Given the description of an element on the screen output the (x, y) to click on. 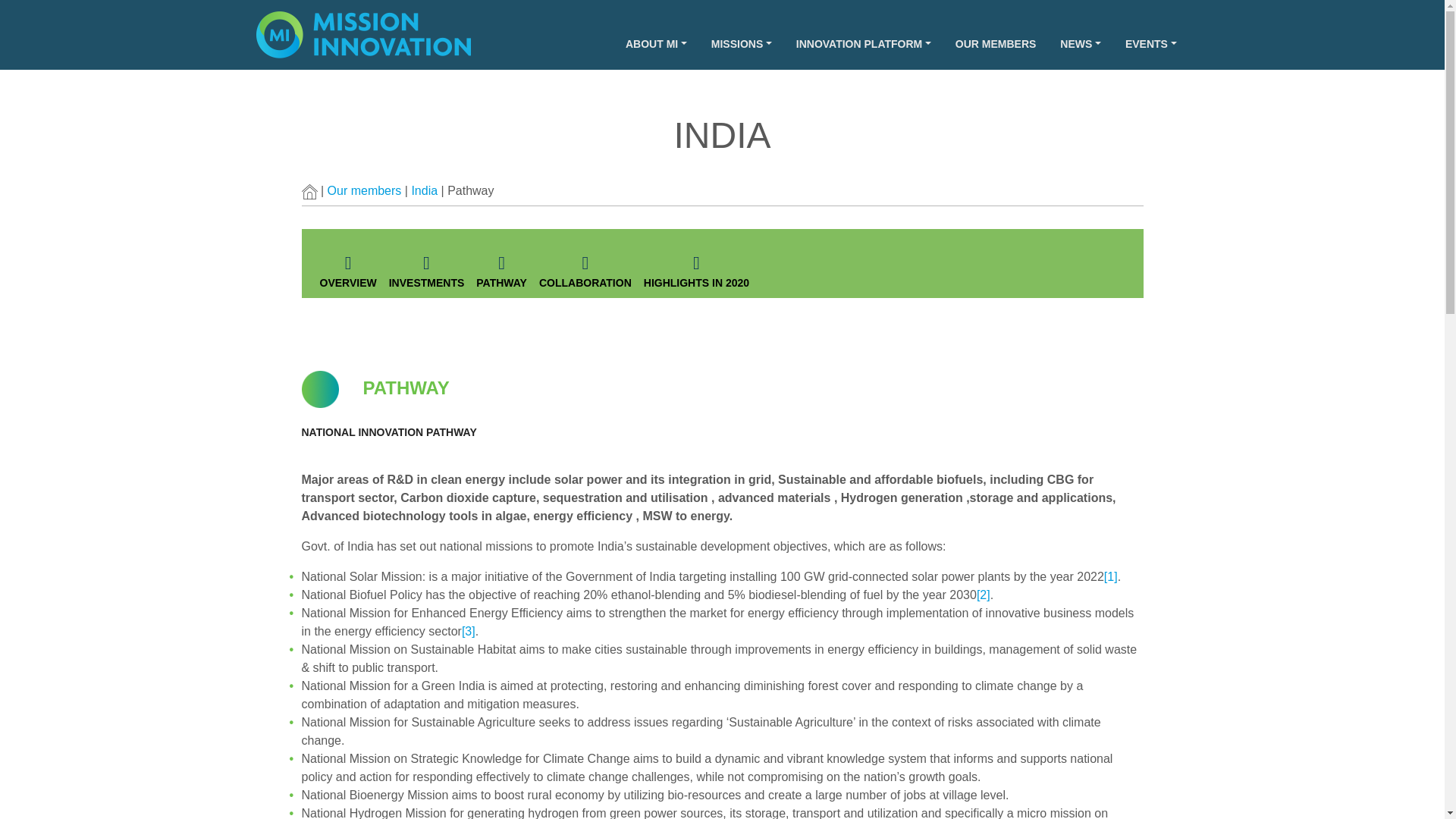
Missions (741, 44)
MISSIONS (741, 44)
ABOUT MI (655, 44)
NEWS (1080, 44)
OUR MEMBERS (995, 44)
INNOVATION PLATFORM (863, 44)
EVENTS (1151, 44)
About MI (655, 44)
